Given the description of an element on the screen output the (x, y) to click on. 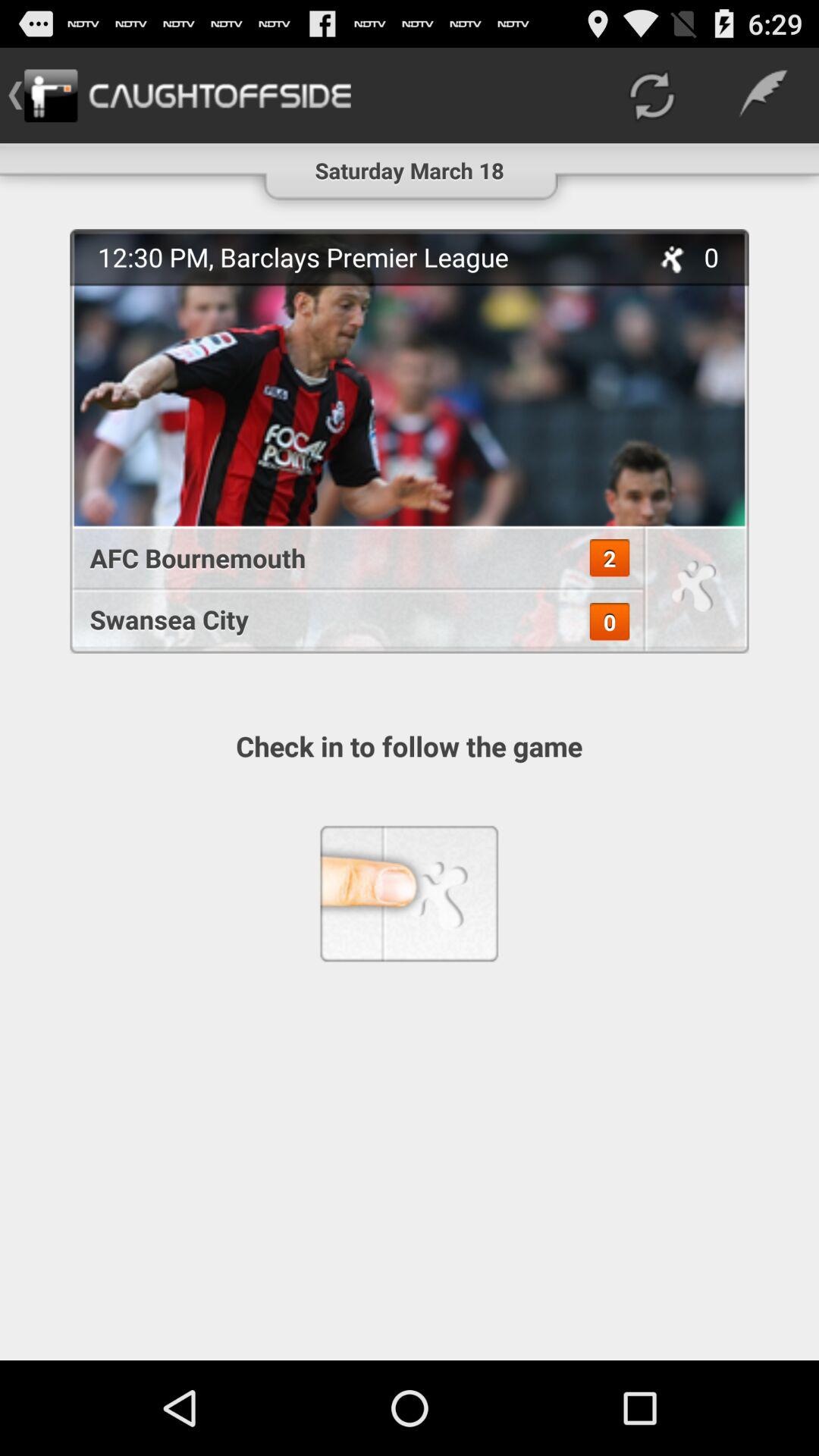
select the app above the check in to item (348, 619)
